Given the description of an element on the screen output the (x, y) to click on. 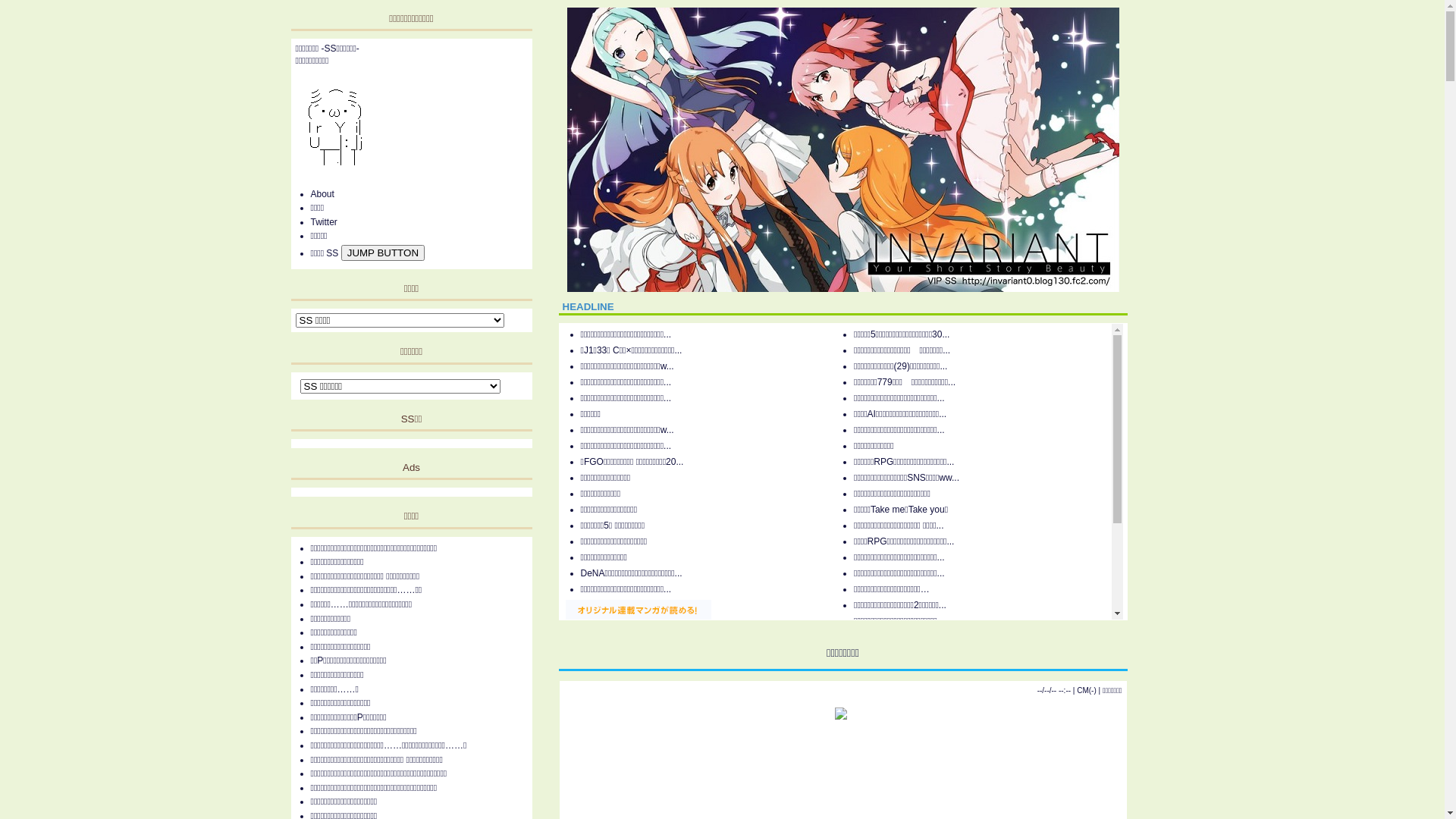
About Element type: text (322, 193)
Twitter Element type: text (323, 221)
CM(-) Element type: text (1086, 690)
JUMP BUTTON Element type: text (382, 252)
